Given the description of an element on the screen output the (x, y) to click on. 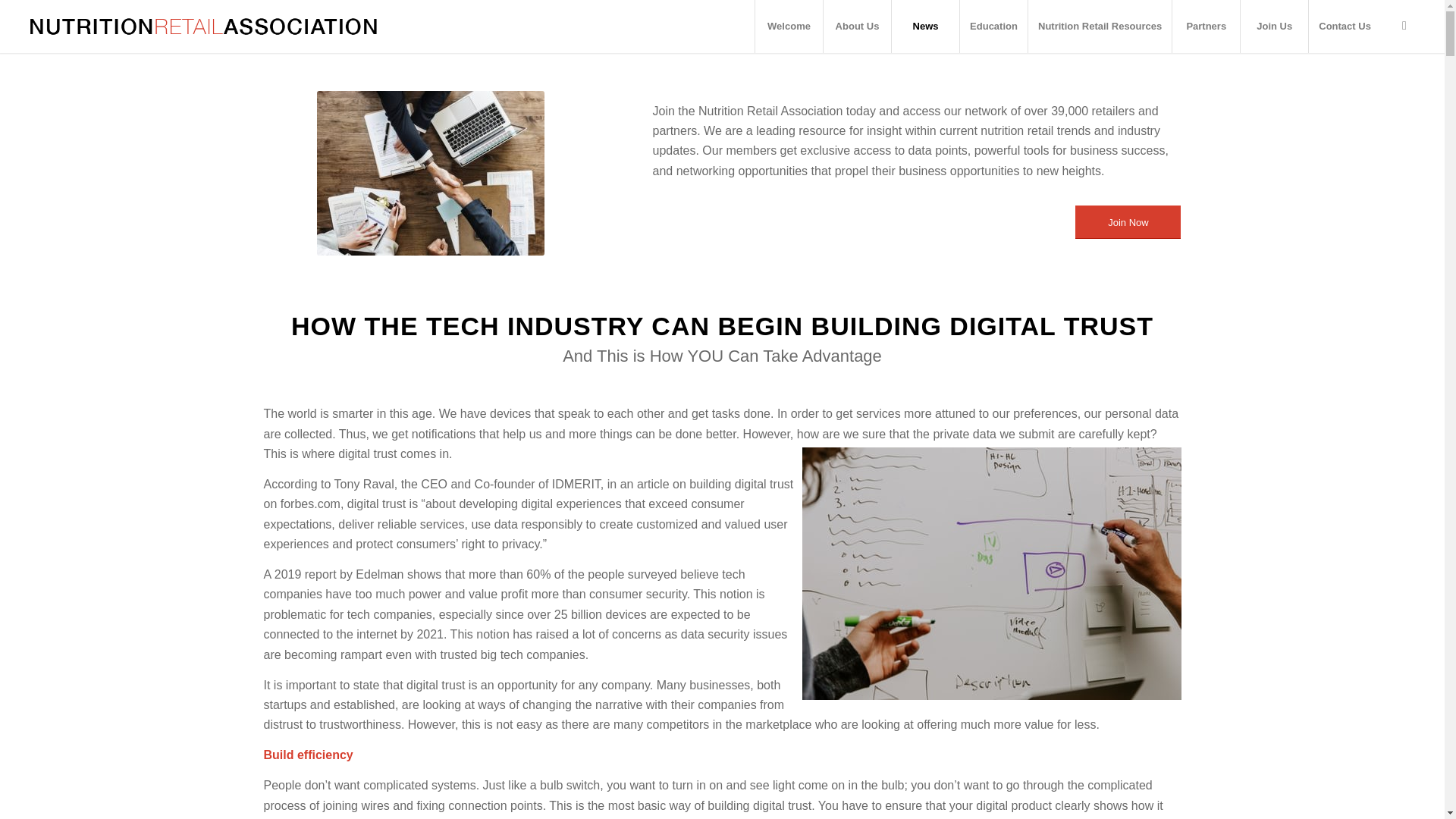
Join Us (1273, 26)
News (925, 26)
Contact Us (1343, 26)
logo (203, 26)
Partners (1206, 26)
Education (993, 26)
Nutrition Retail Resources (1099, 26)
Join Now (1127, 222)
Welcome (788, 26)
Facebook (1404, 25)
About Us (856, 26)
